Given the description of an element on the screen output the (x, y) to click on. 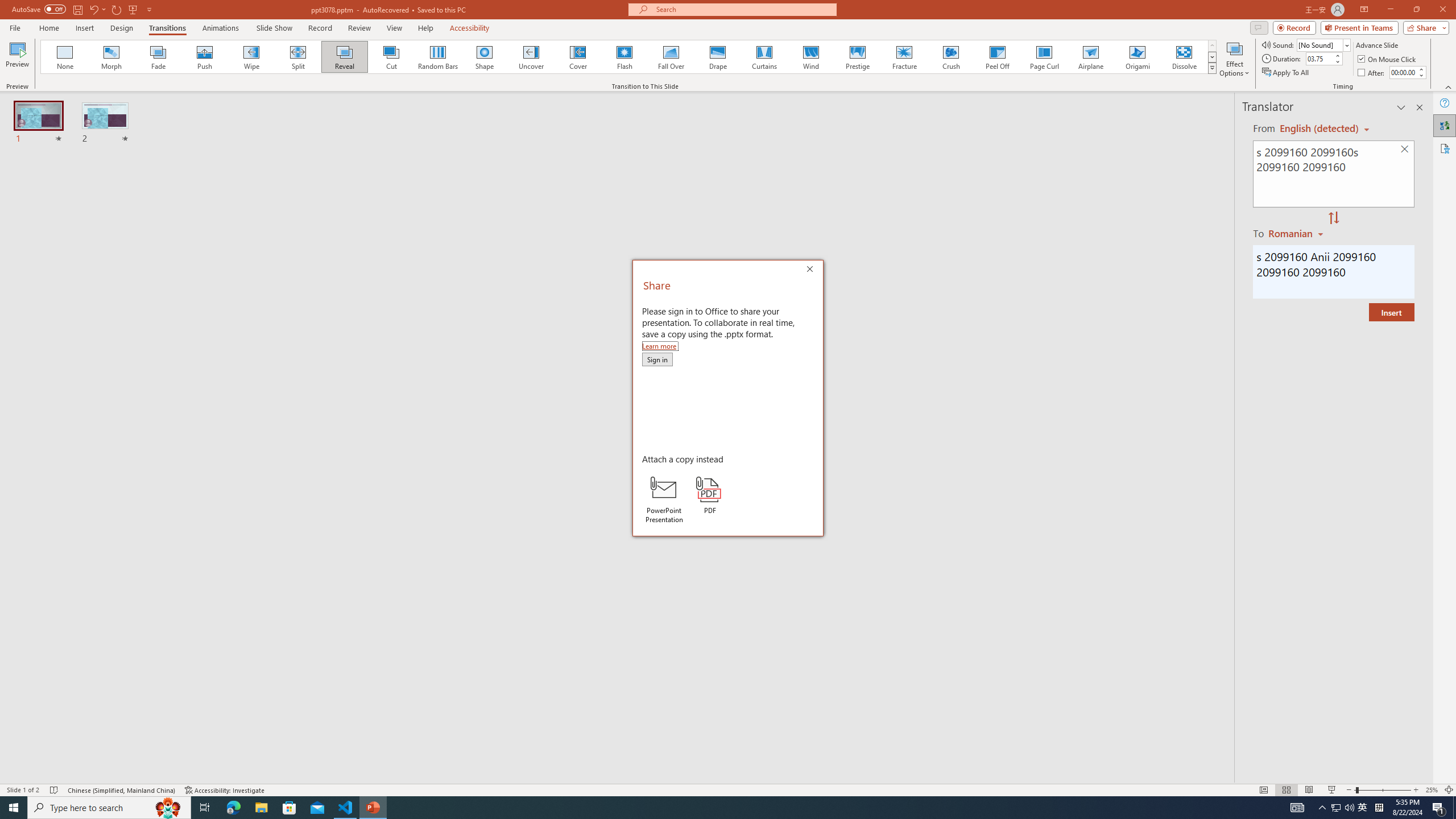
After (1372, 72)
On Mouse Click (1387, 58)
Less (1420, 75)
Shape (484, 56)
Curtains (764, 56)
